Given the description of an element on the screen output the (x, y) to click on. 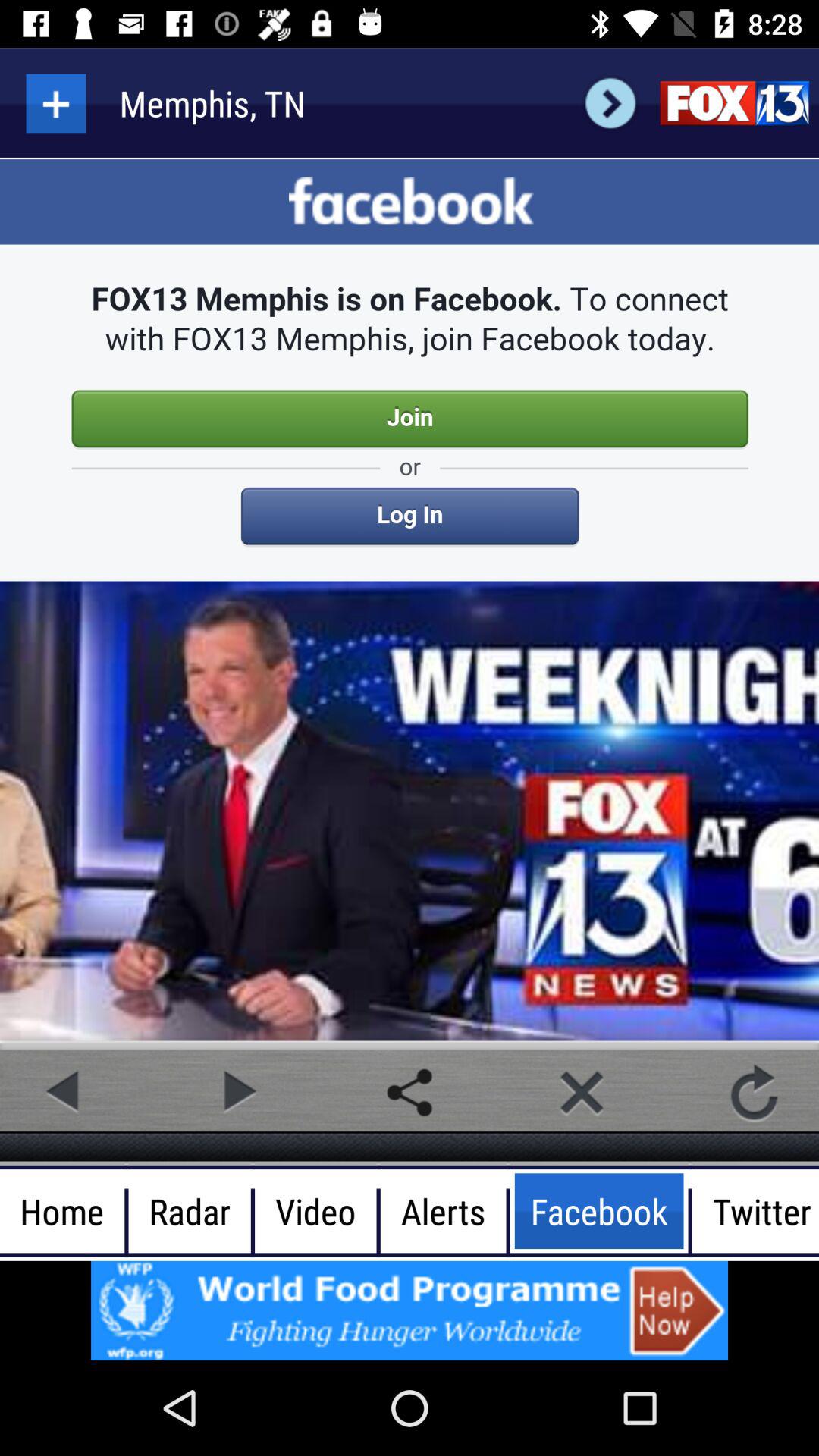
click on next (610, 103)
